Given the description of an element on the screen output the (x, y) to click on. 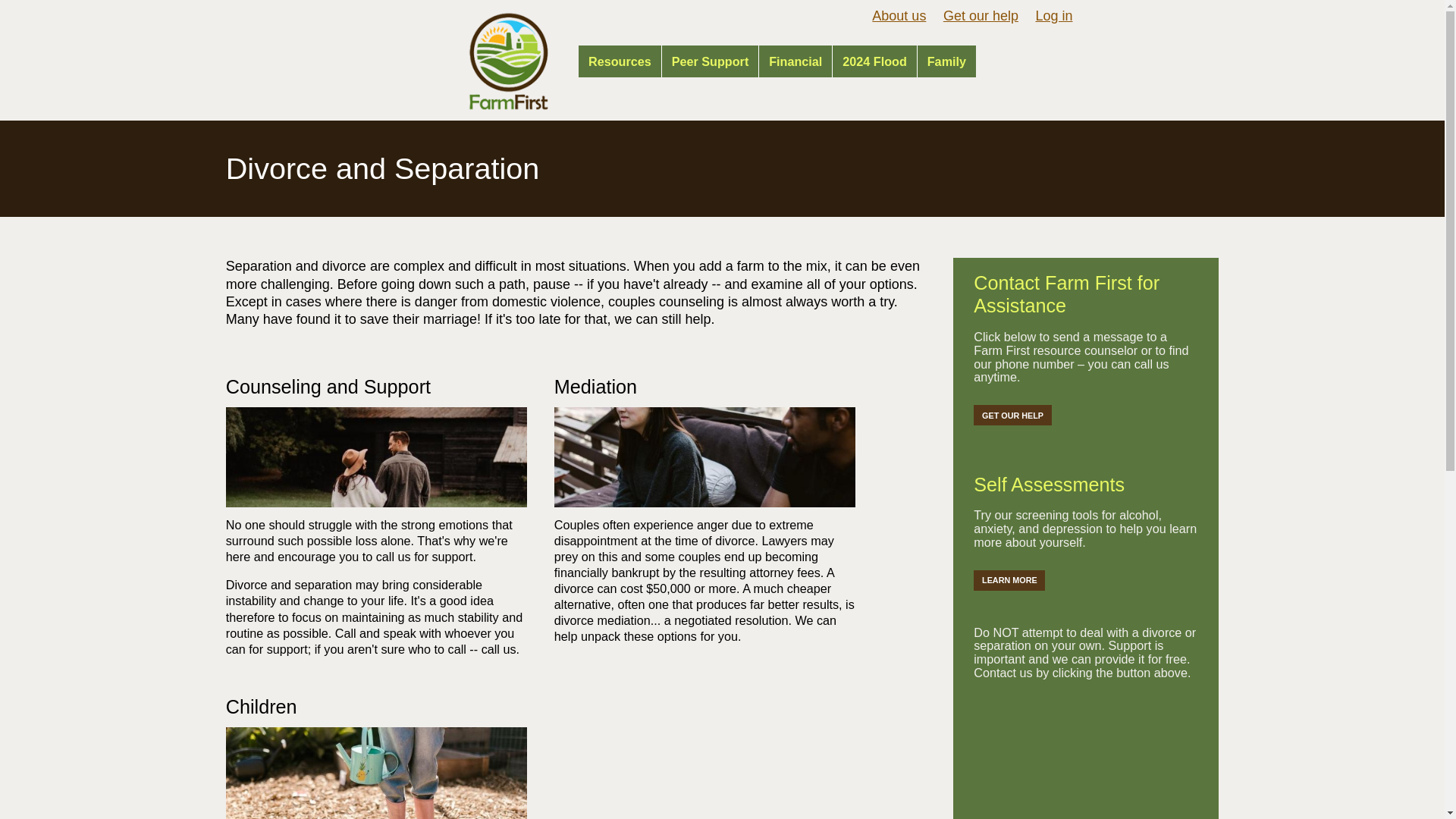
Get our help (980, 15)
GET OUR HELP (1012, 414)
2024 Flood (873, 60)
Peer Support (710, 60)
About us (899, 15)
Log in (1053, 15)
LEARN MORE (1009, 580)
